Given the description of an element on the screen output the (x, y) to click on. 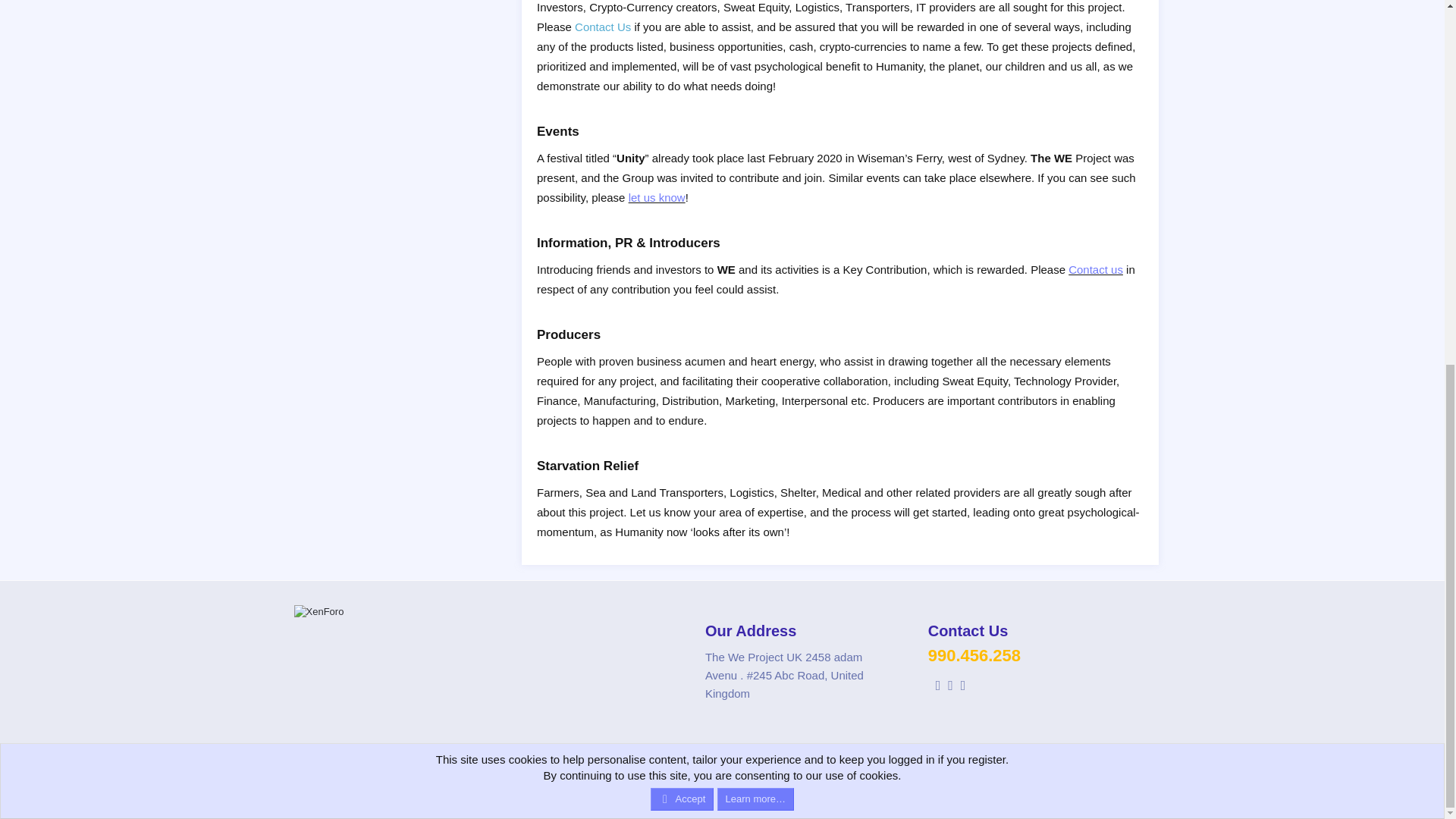
Style chooser (481, 767)
Responsive width (630, 804)
RSS (1147, 768)
